Given the description of an element on the screen output the (x, y) to click on. 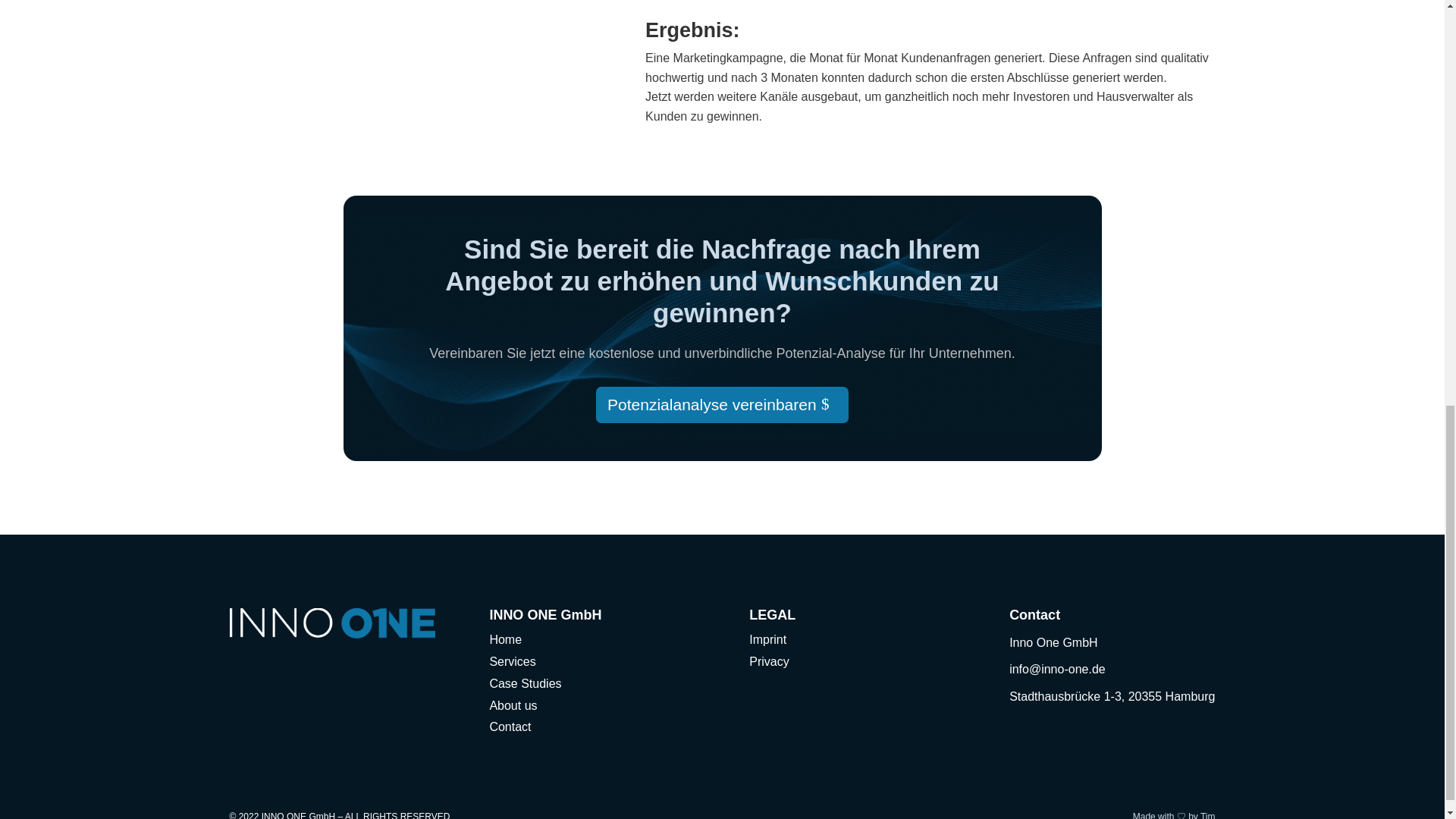
Imprint (767, 639)
Case Studies (524, 683)
Services (512, 661)
Group 13rtzu (330, 623)
Home (505, 639)
Privacy (769, 661)
About us (513, 705)
Contact (510, 726)
Potenzialanalyse vereinbaren (721, 404)
